Given the description of an element on the screen output the (x, y) to click on. 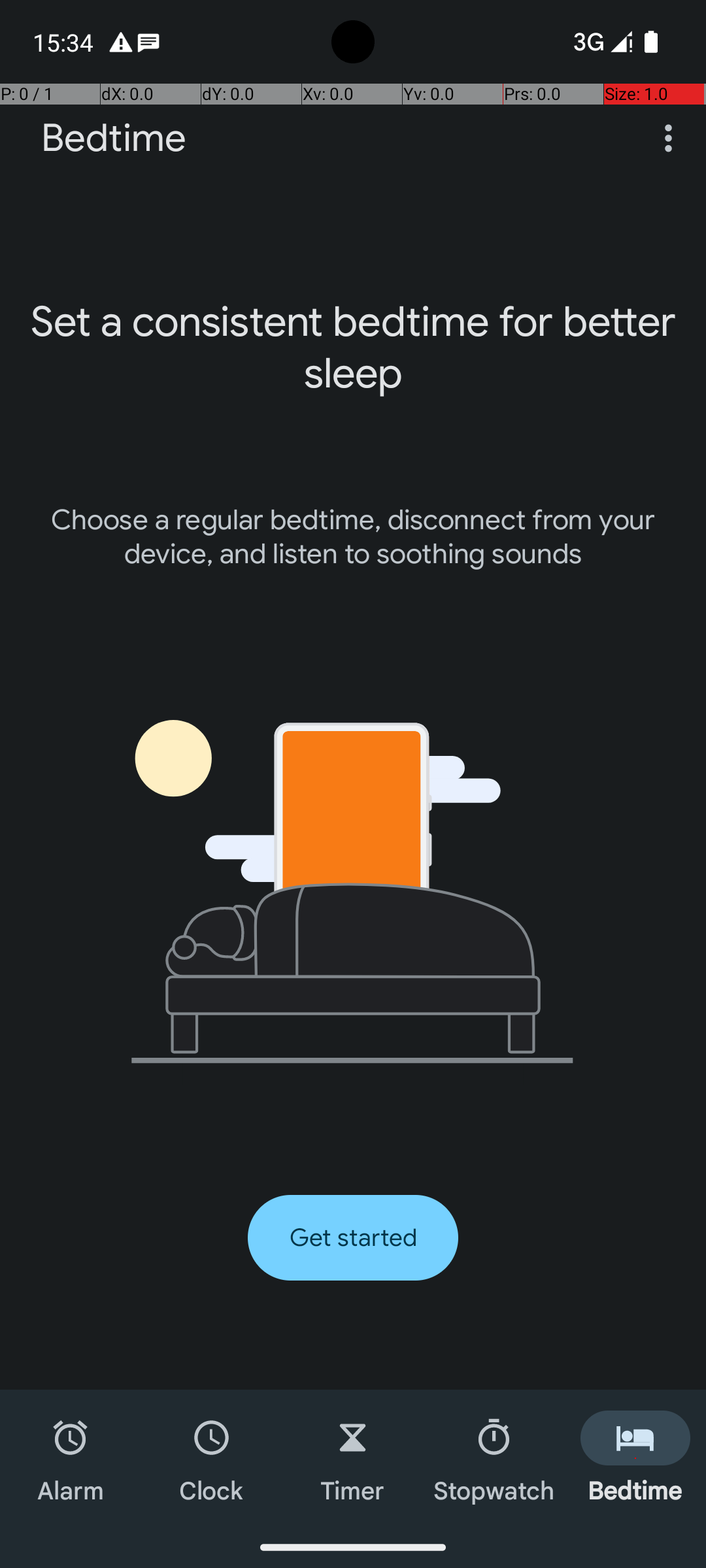
Set a consistent bedtime for better sleep Element type: android.widget.TextView (352, 347)
Choose a regular bedtime, disconnect from your device, and listen to soothing sounds Element type: android.widget.TextView (352, 536)
